Given the description of an element on the screen output the (x, y) to click on. 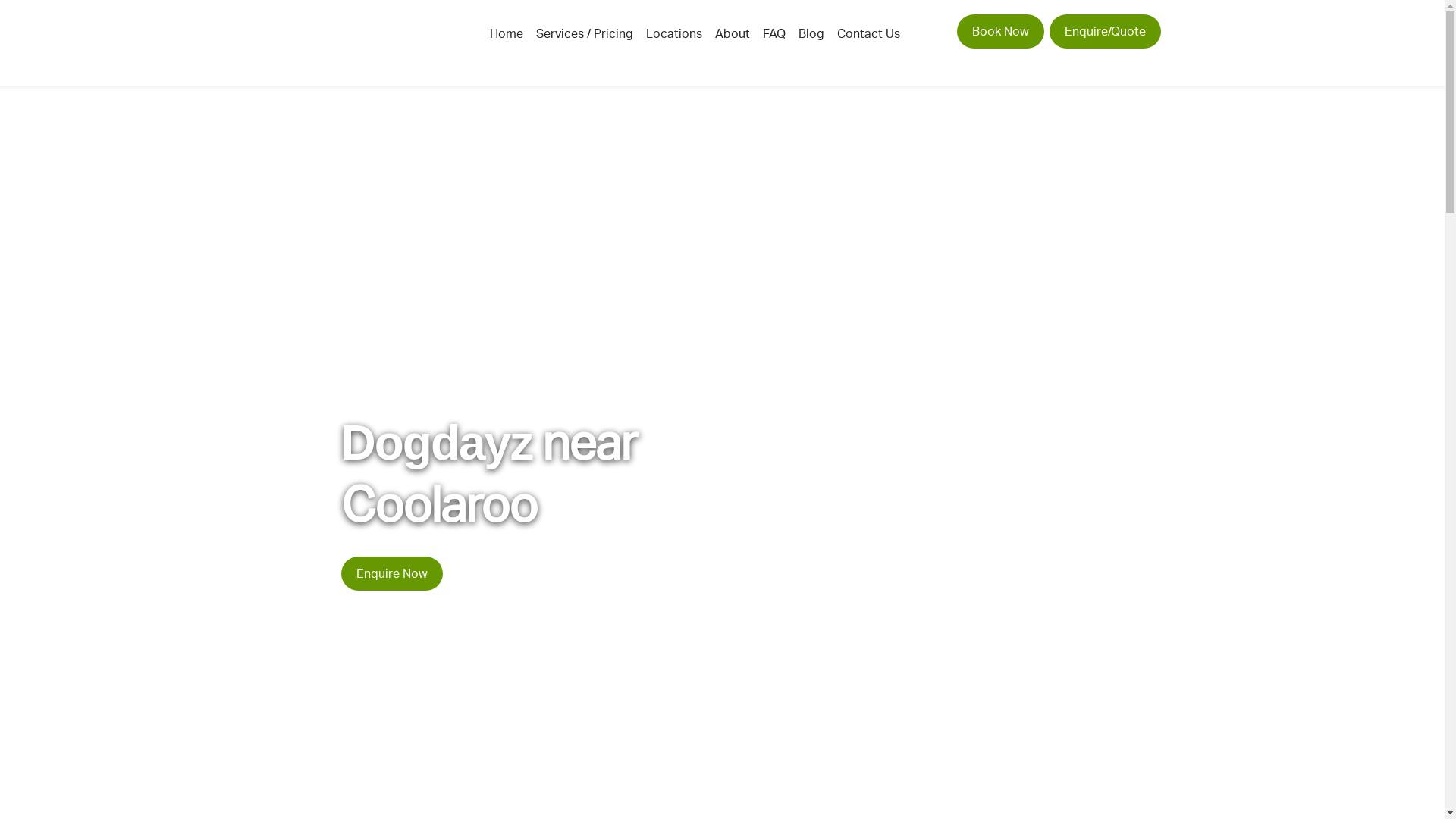
Services / Pricing Element type: text (584, 33)
Locations Element type: text (674, 33)
Contact Us Element type: text (868, 33)
Book Now Element type: text (1000, 31)
Enquire/Quote Element type: text (1105, 31)
FAQ Element type: text (774, 33)
Enquire Now Element type: text (391, 573)
About Element type: text (732, 33)
Home Element type: text (506, 33)
Blog Element type: text (811, 33)
Skip to content Element type: text (0, 0)
